Given the description of an element on the screen output the (x, y) to click on. 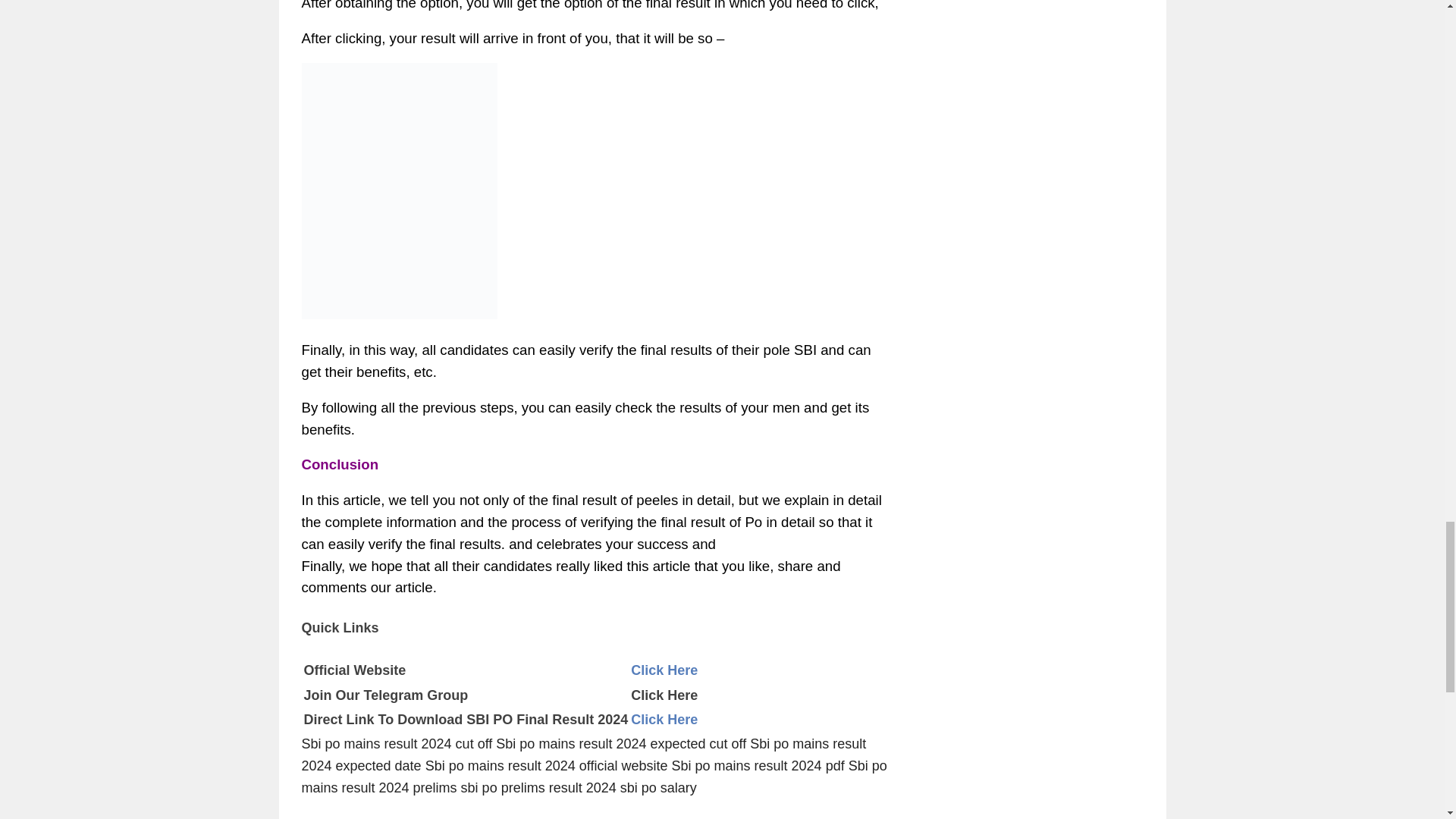
Sbi po mains result 2024 expected date (583, 754)
Click Here (663, 670)
Sbi po mains result 2024 official website (546, 765)
Sbi po mains result 2024 expected cut off (620, 743)
Sbi po mains result 2024 pdf (757, 765)
Click Here (663, 719)
sbi po salary (658, 787)
sbi po prelims result 2024 (538, 787)
Sbi po mains result 2024 cut off (397, 743)
Sbi po mains result 2024 prelims (593, 776)
